Given the description of an element on the screen output the (x, y) to click on. 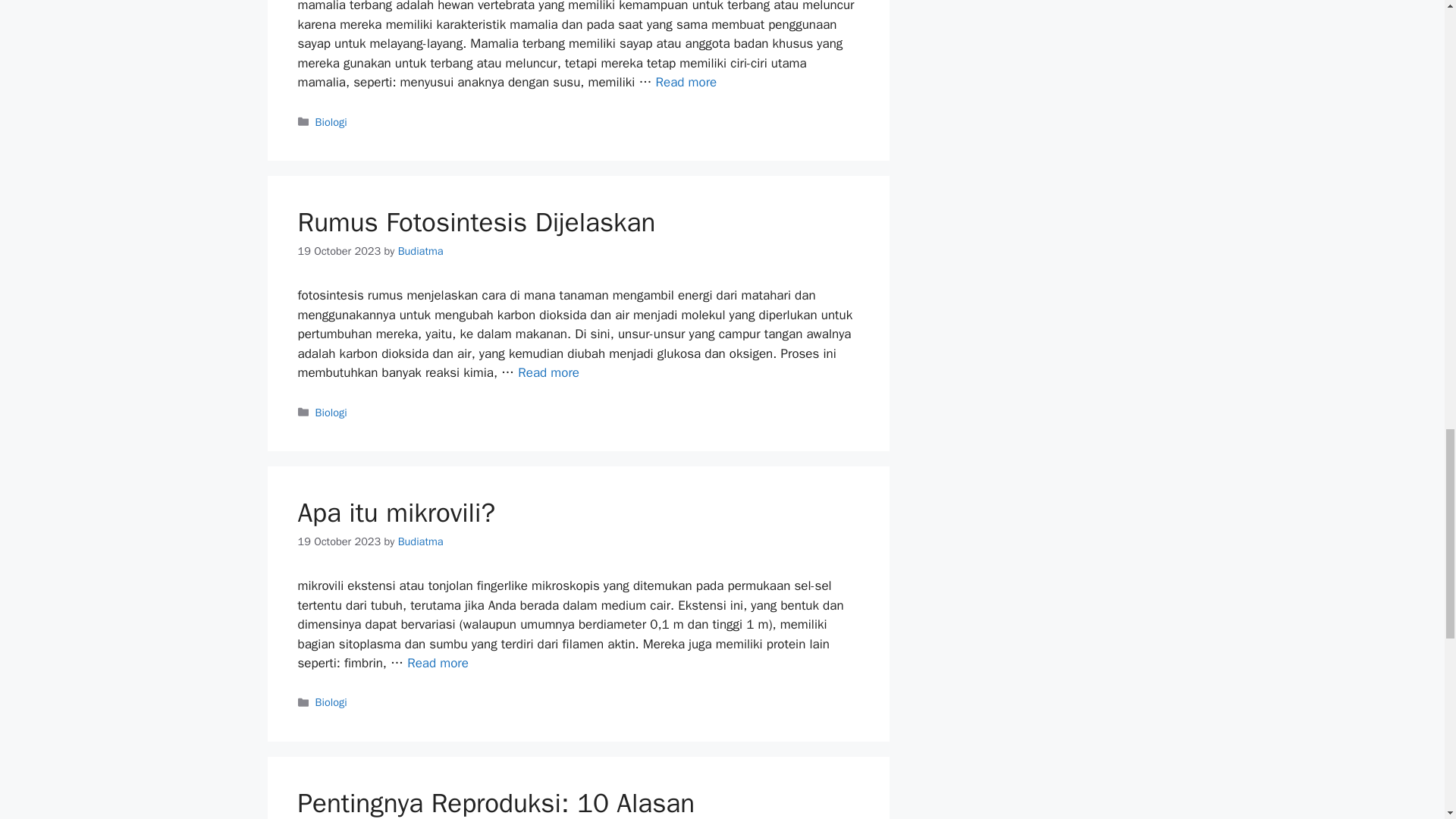
Apa itu mikrovili? (437, 662)
Rumus Fotosintesis Dijelaskan (548, 372)
View all posts by Budiatma (420, 540)
Mamalia terbang: ciri-ciri dan contohnya (685, 82)
View all posts by Budiatma (420, 250)
Read more (685, 82)
